Given the description of an element on the screen output the (x, y) to click on. 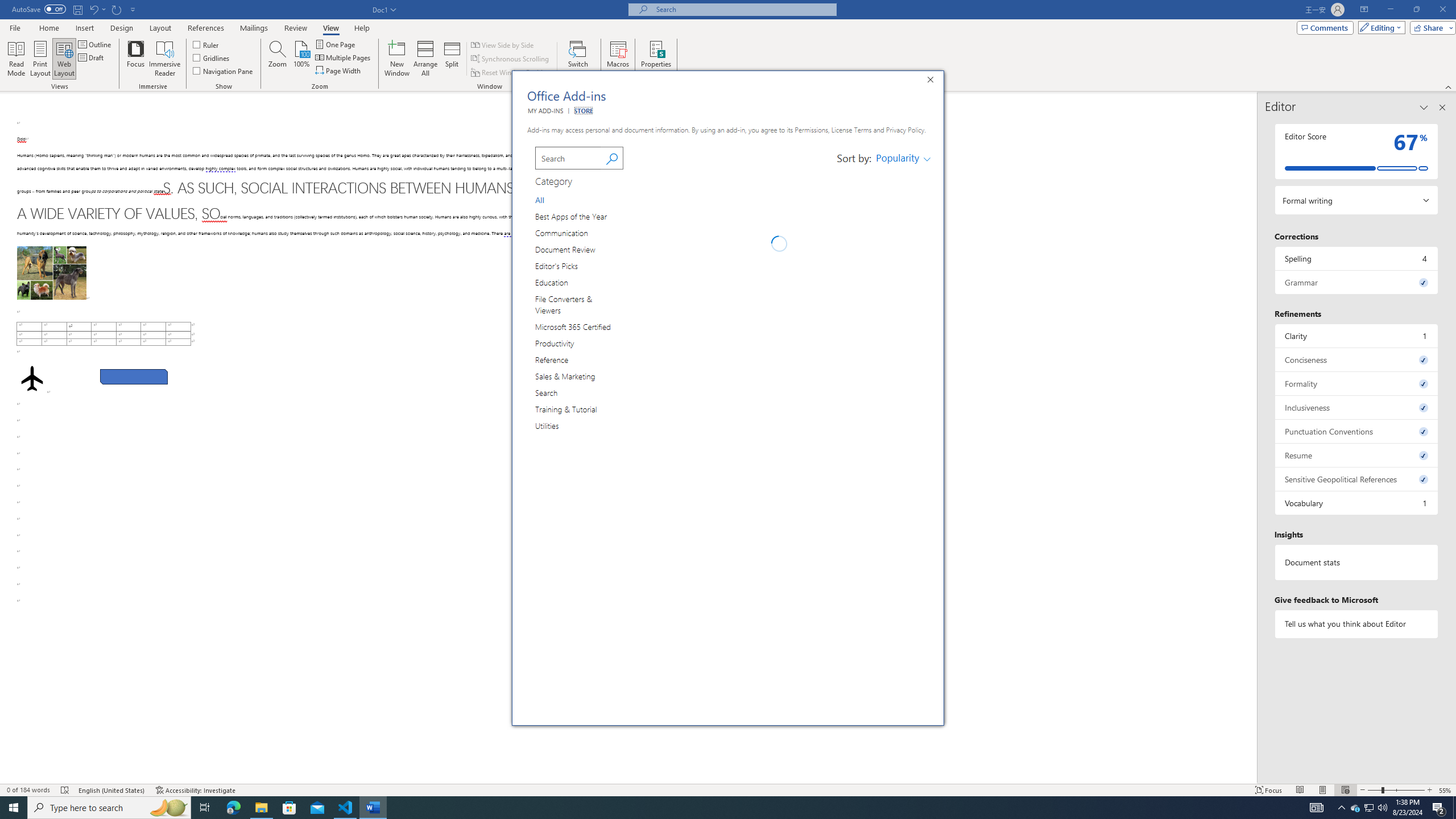
Script Lab, a Microsoft Garage project icon (646, 264)
Conciseness, 0 issues. Press space or enter to review items. (1356, 359)
Zoom... (276, 58)
Editing (902, 158)
Add Spell checker and Grammar checker by Scribens (1379, 27)
Docusign for Word icon (902, 624)
Add Pickit | Make impactful presentations in minutes (646, 498)
Running applications (902, 194)
Category Group Utilities 14 of 14 (717, 807)
